Given the description of an element on the screen output the (x, y) to click on. 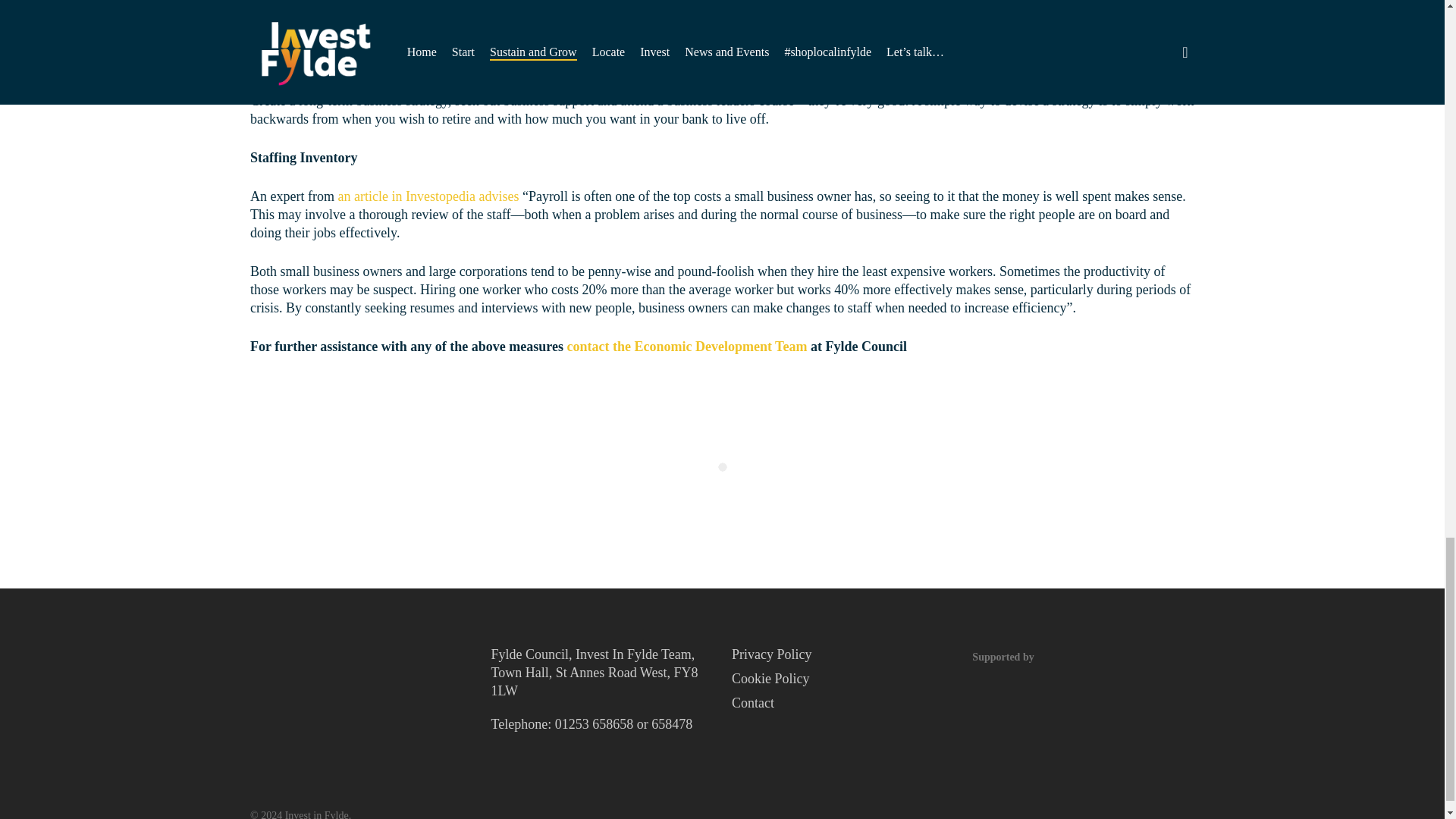
Cookie Policy (842, 678)
an article in Investopedia advises (427, 196)
Privacy Policy (842, 654)
Contact (842, 702)
01253 658658 (593, 724)
658478 (671, 724)
contact the Economic Development Team (686, 346)
